Given the description of an element on the screen output the (x, y) to click on. 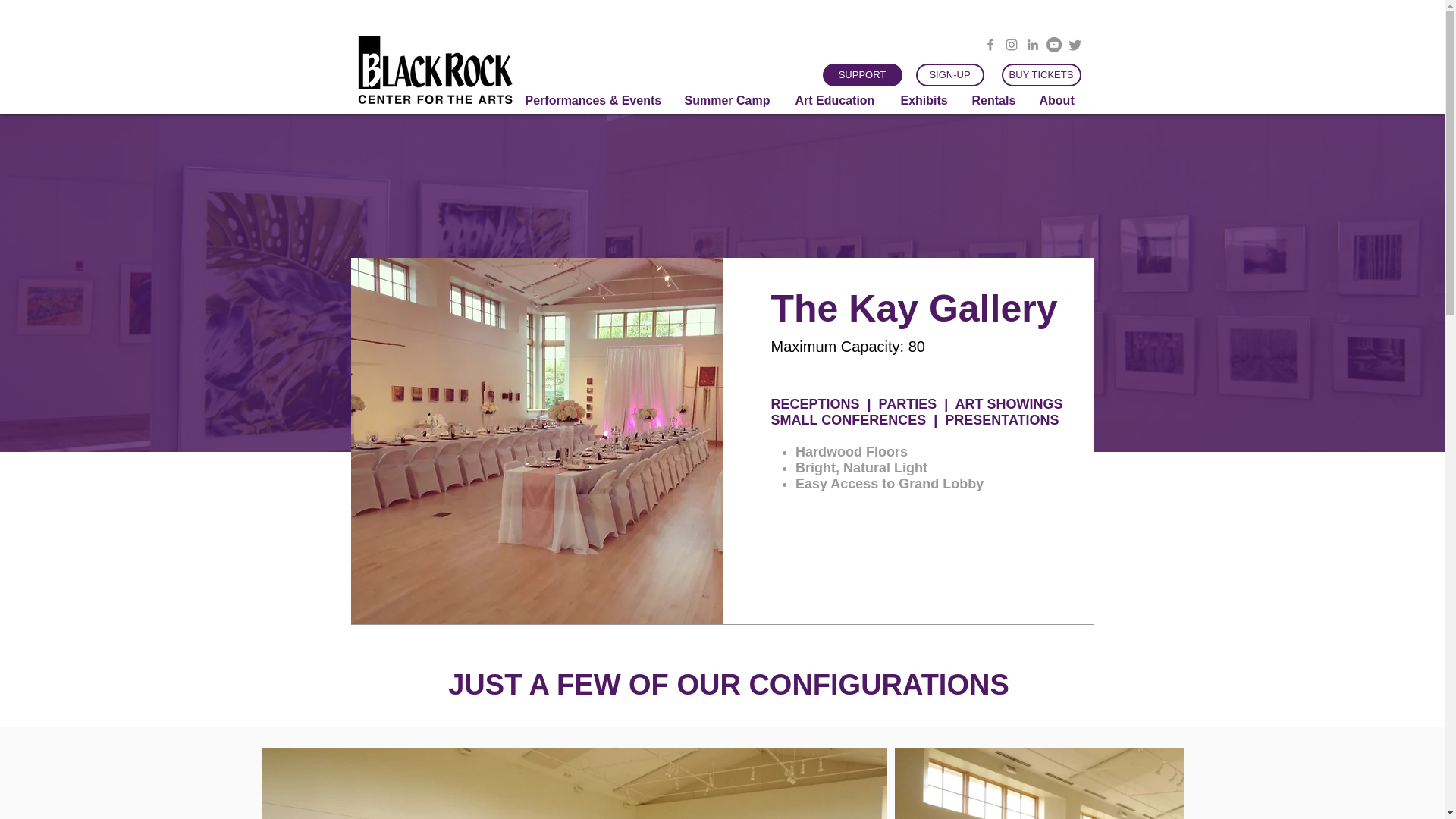
BUY TICKETS (1040, 74)
SUPPORT (861, 74)
SIGN-UP (949, 74)
